Given the description of an element on the screen output the (x, y) to click on. 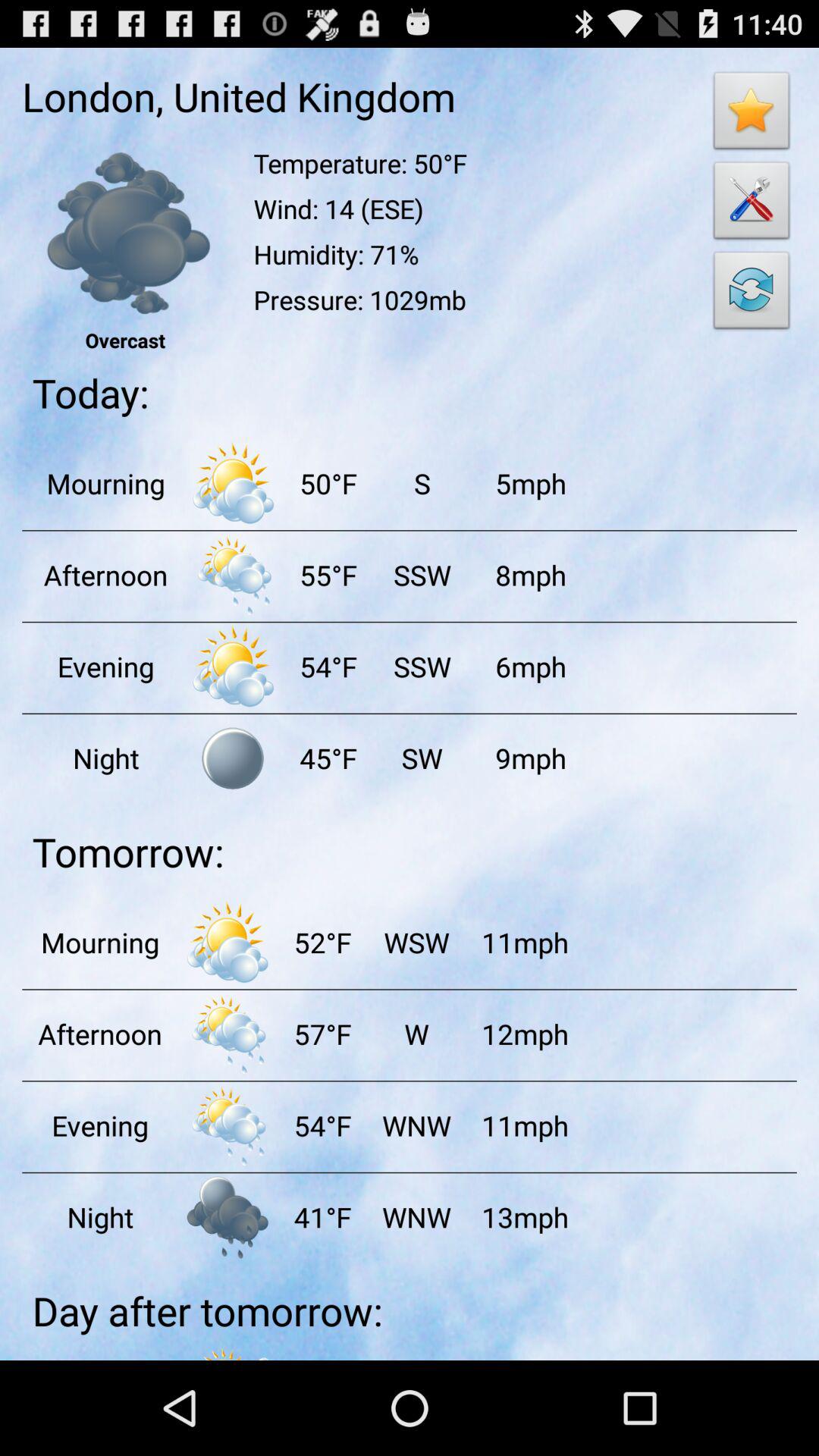
click on the night mode symbol (232, 757)
